Given the description of an element on the screen output the (x, y) to click on. 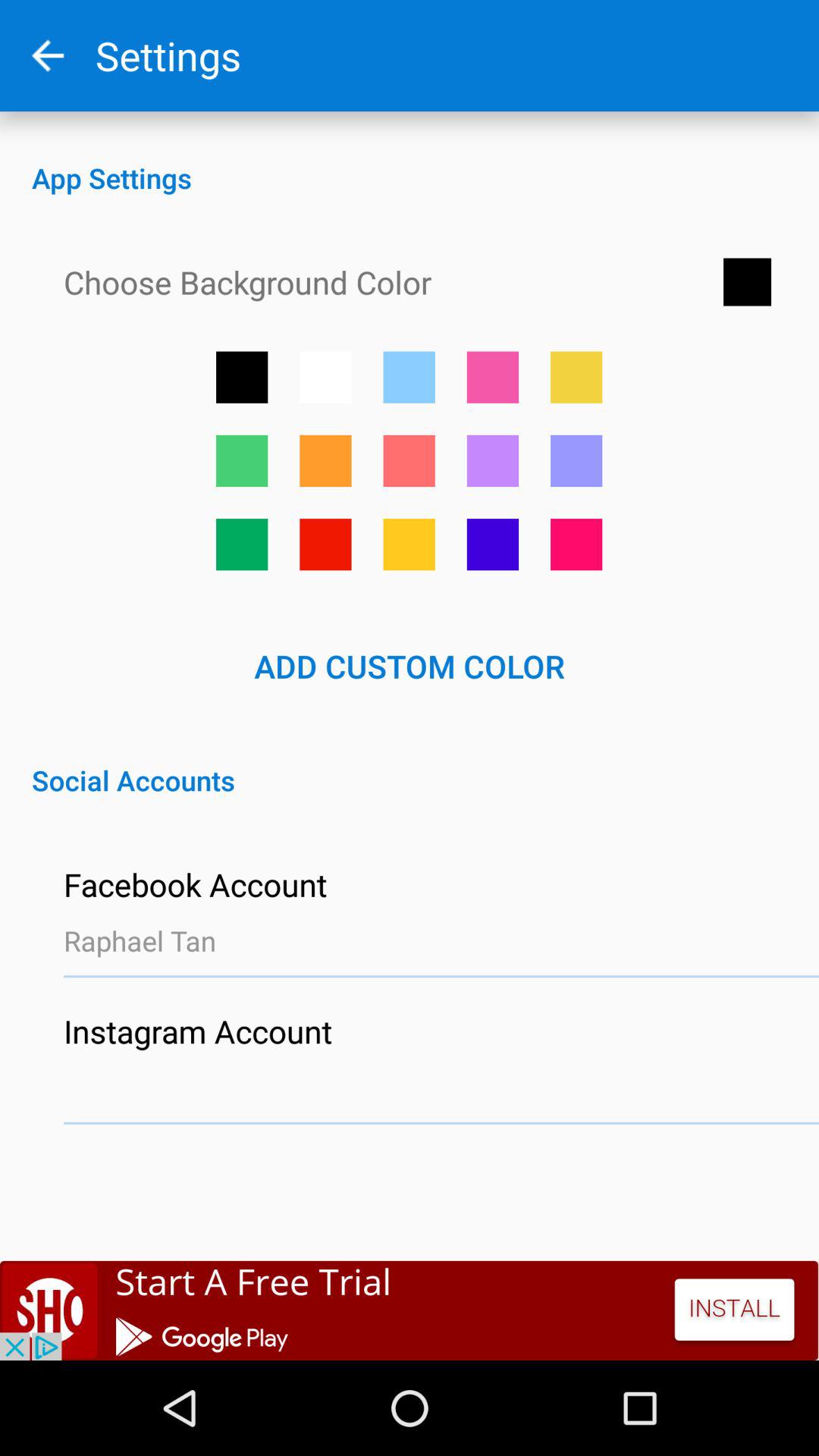
selected color (409, 460)
